Given the description of an element on the screen output the (x, y) to click on. 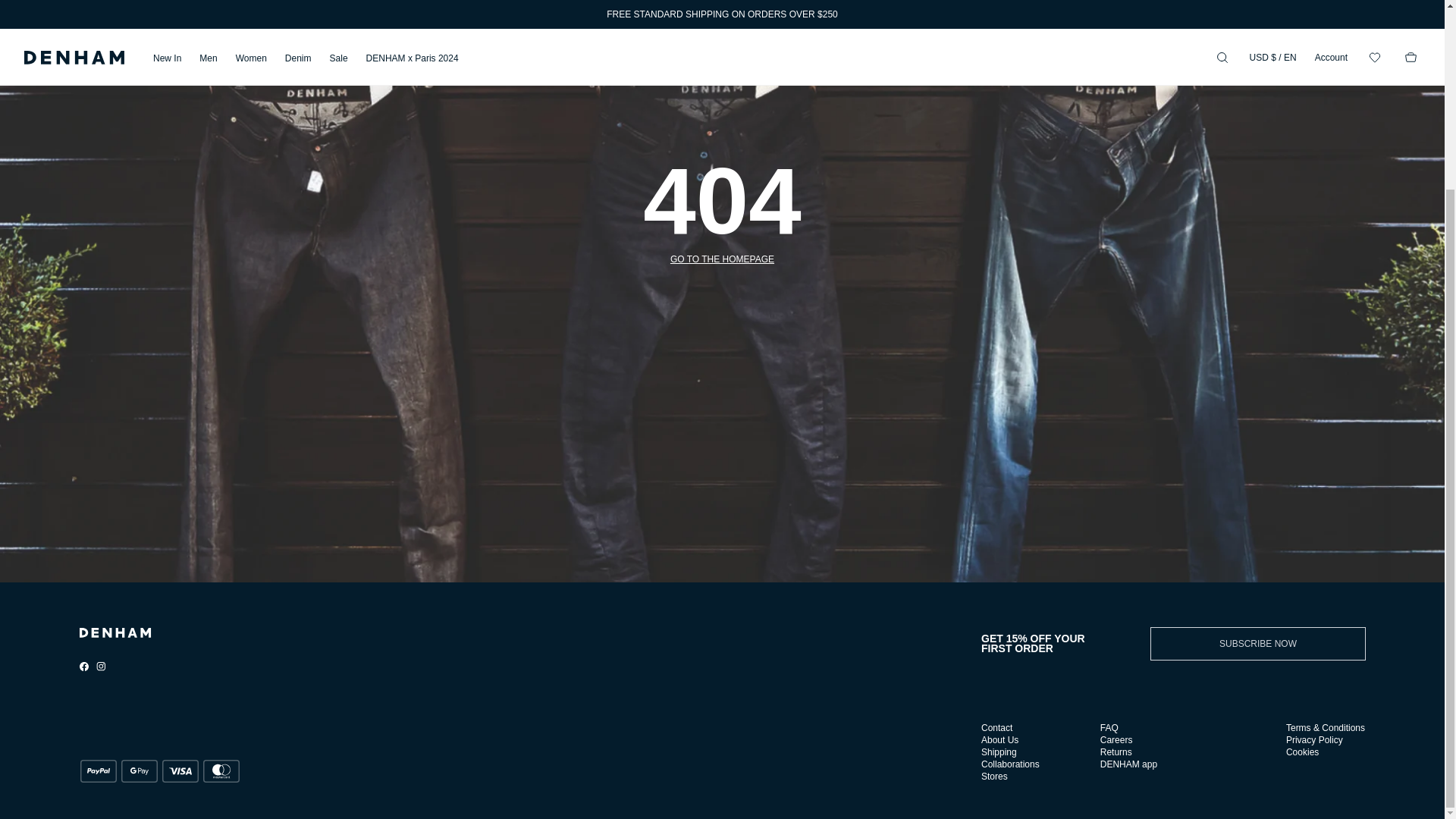
Contact (996, 727)
GO TO THE HOMEPAGE (722, 258)
SUBSCRIBE NOW (1258, 644)
FAQ (1109, 727)
About Us (999, 739)
